Given the description of an element on the screen output the (x, y) to click on. 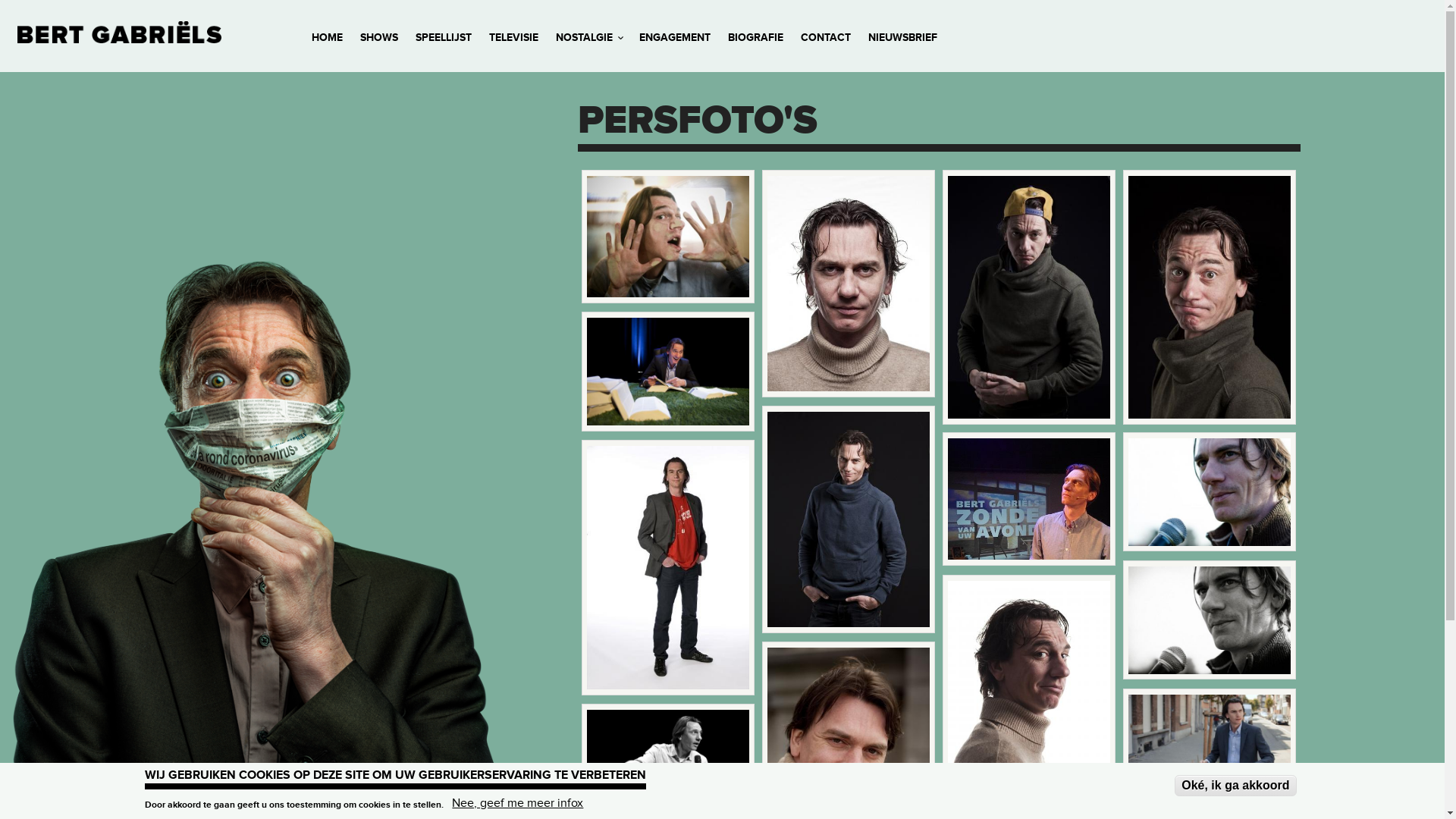
SPEELLIJST Element type: text (443, 38)
TELEVISIE Element type: text (513, 38)
ENGAGEMENT Element type: text (674, 38)
NOSTALGIE Element type: text (588, 38)
BIOGRAFIE Element type: text (755, 38)
HOME Element type: text (326, 38)
Overslaan en naar de inhoud gaan Element type: text (93, 0)
Nee, geef me meer infox Element type: text (517, 802)
SHOWS Element type: text (378, 38)
CONTACT Element type: text (825, 38)
NIEUWSBRIEF Element type: text (902, 38)
